Given the description of an element on the screen output the (x, y) to click on. 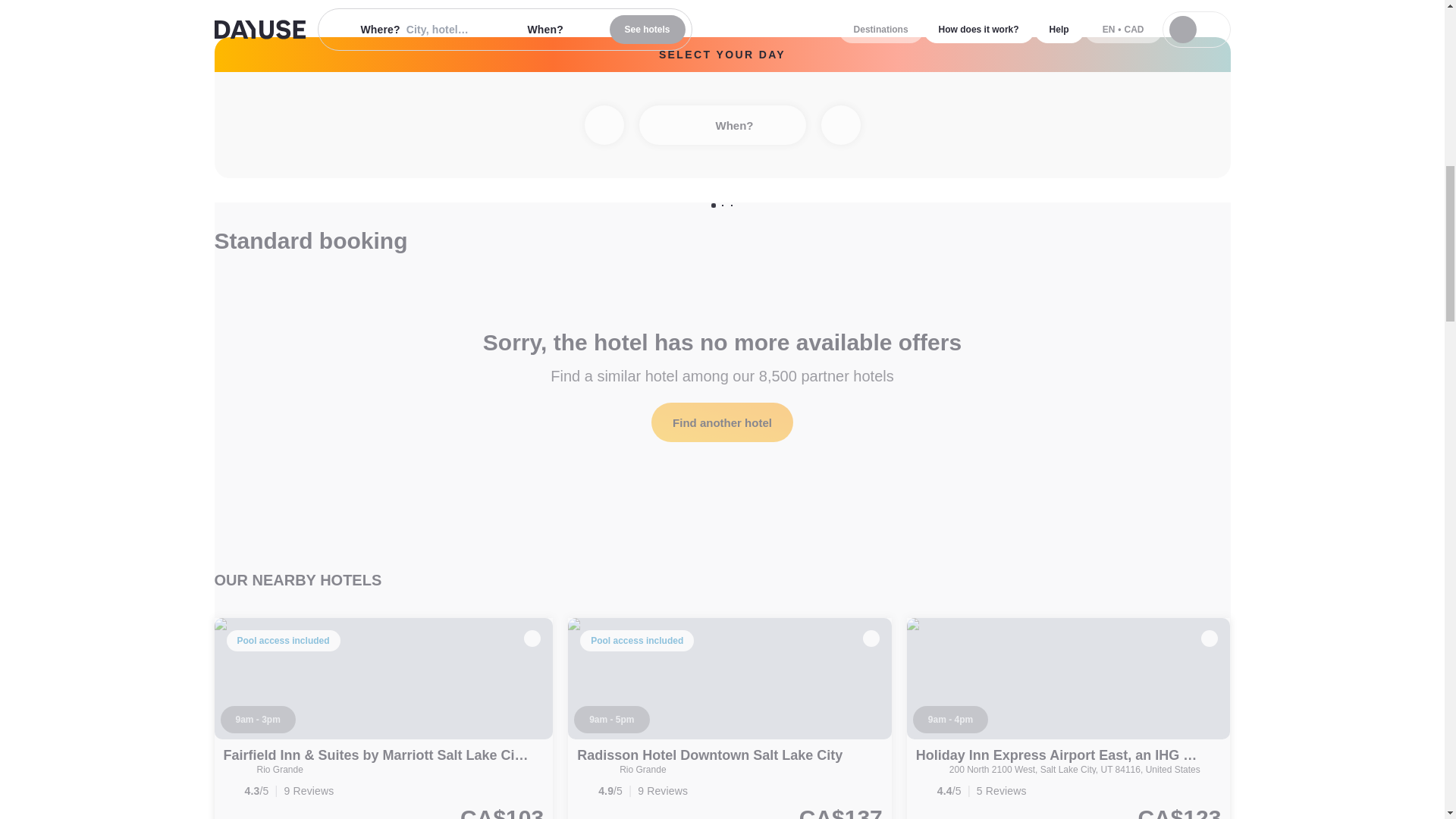
Holiday Inn Express Airport East, an IHG Hotel (1066, 754)
Holiday Inn Express Airport East, an IHG Hotel (1068, 718)
9am - 3pm (257, 719)
9am - 5pm (611, 719)
Radisson Hotel Downtown Salt Lake City (709, 754)
Radisson Hotel Downtown Salt Lake City (709, 754)
Radisson Hotel Downtown Salt Lake City (729, 718)
When? (722, 124)
Next day (840, 124)
Previous day (603, 124)
Find another hotel (721, 422)
